Given the description of an element on the screen output the (x, y) to click on. 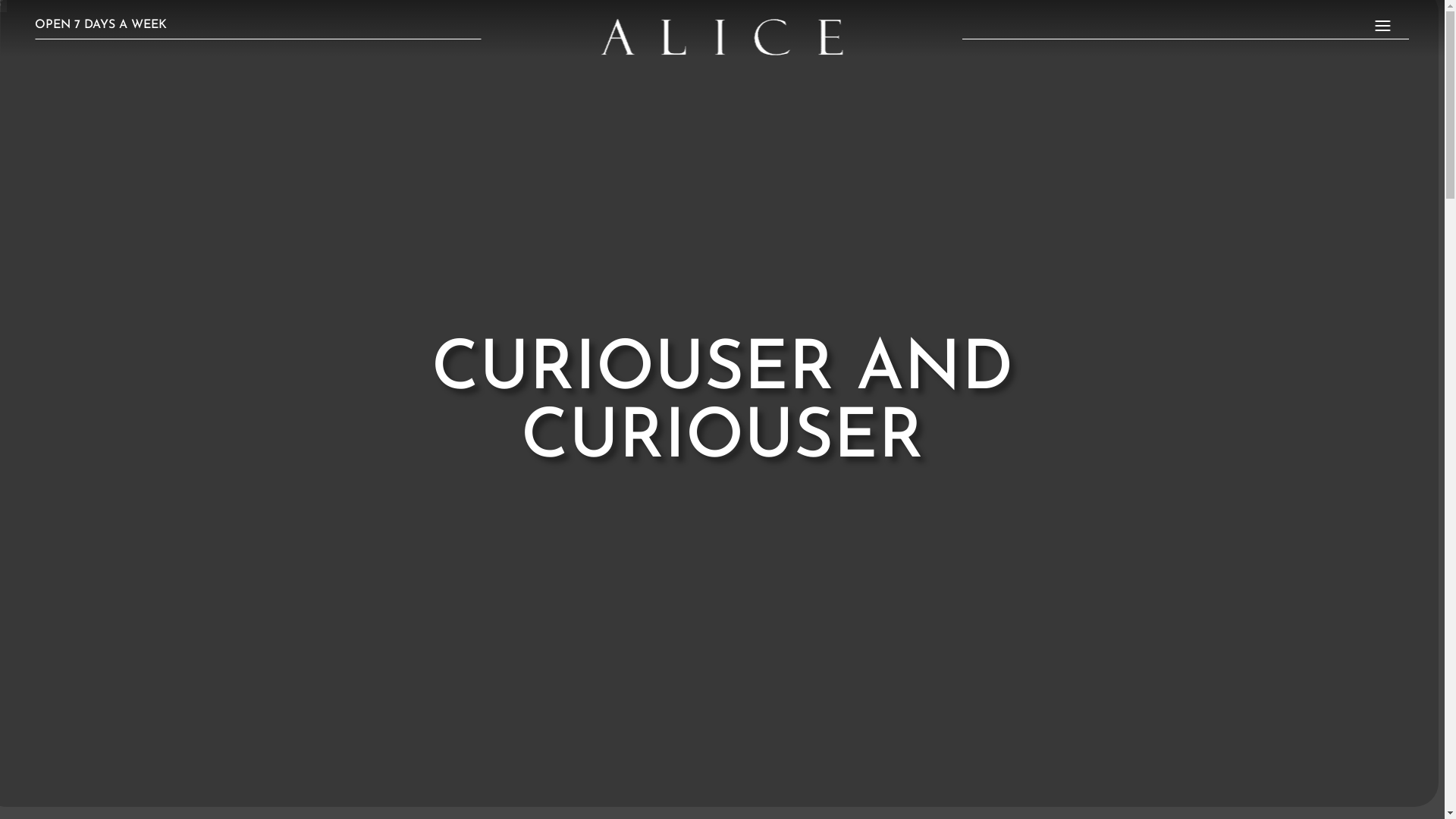
alice_logo_white1-e1674078100625 Element type: hover (722, 36)
